Given the description of an element on the screen output the (x, y) to click on. 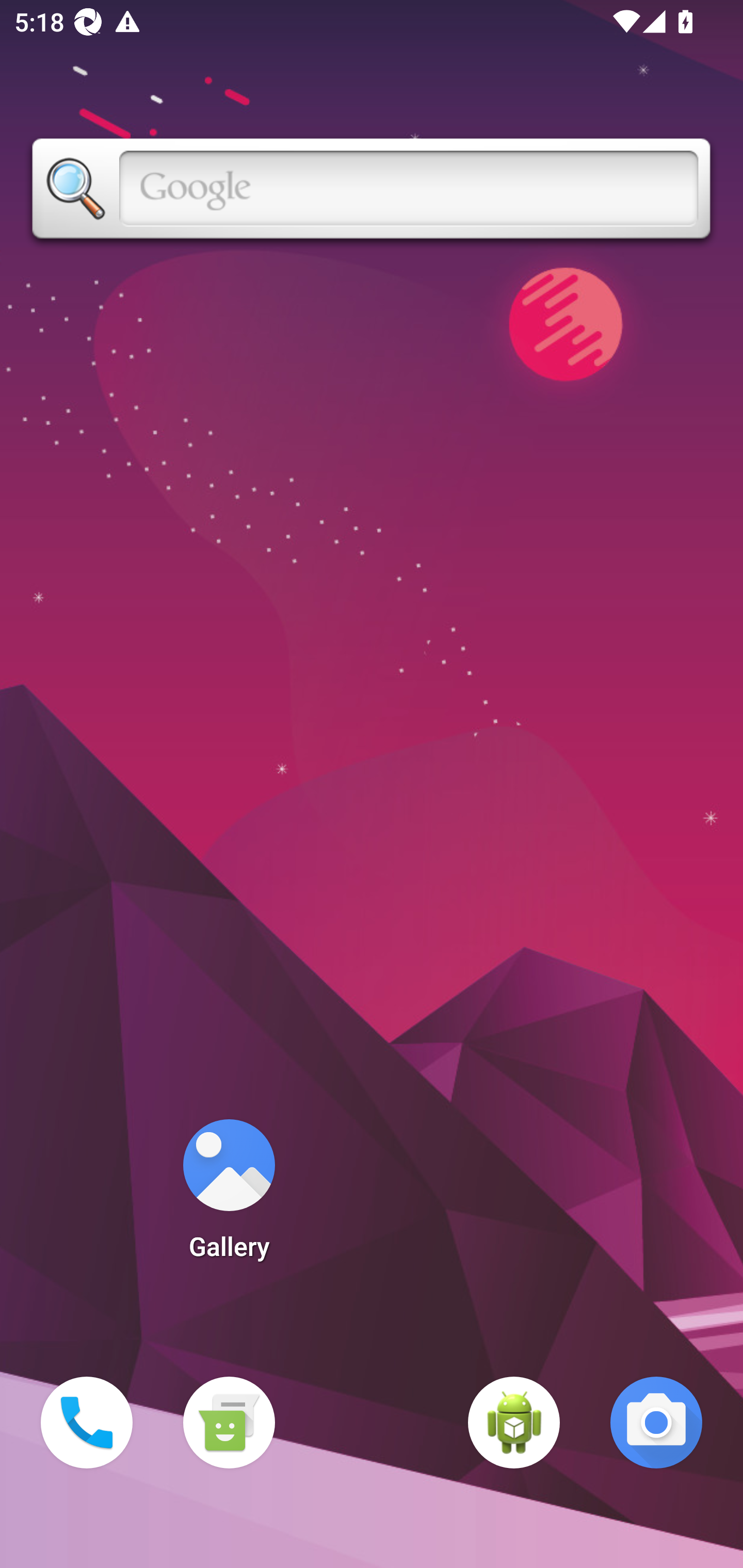
Gallery (228, 1195)
Phone (86, 1422)
Messaging (228, 1422)
WebView Browser Tester (513, 1422)
Camera (656, 1422)
